Given the description of an element on the screen output the (x, y) to click on. 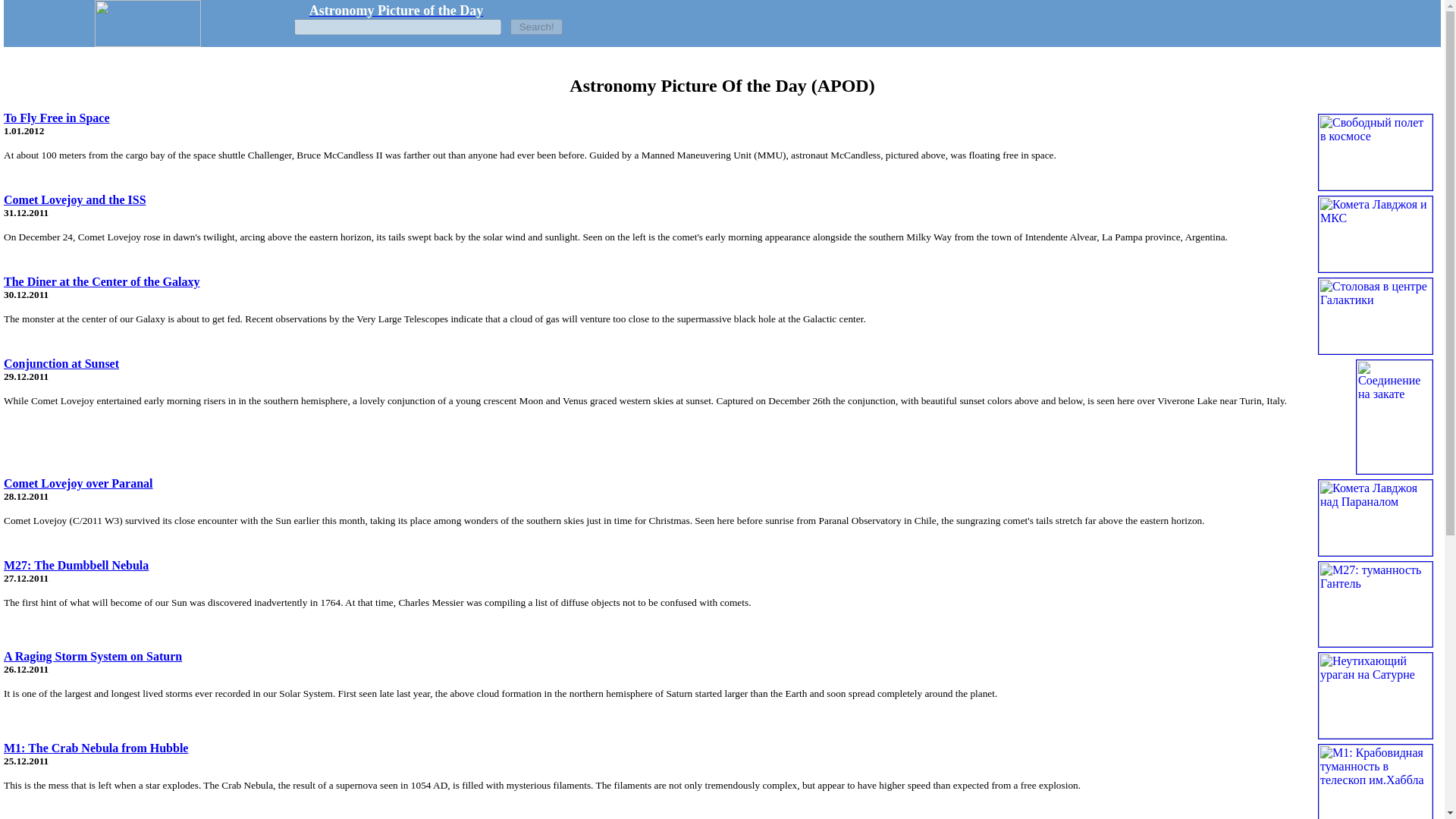
Comet Lovejoy over Paranal (78, 482)
Astronomy Picture of the Day (395, 10)
To Fly Free in Space (57, 117)
A Raging Storm System on Saturn (93, 656)
The Diner at the Center of the Galaxy (101, 281)
M27: The Dumbbell Nebula (76, 564)
M1: The Crab Nebula from Hubble (95, 748)
Comet Lovejoy and the ISS (75, 199)
Conjunction at Sunset (61, 363)
